Given the description of an element on the screen output the (x, y) to click on. 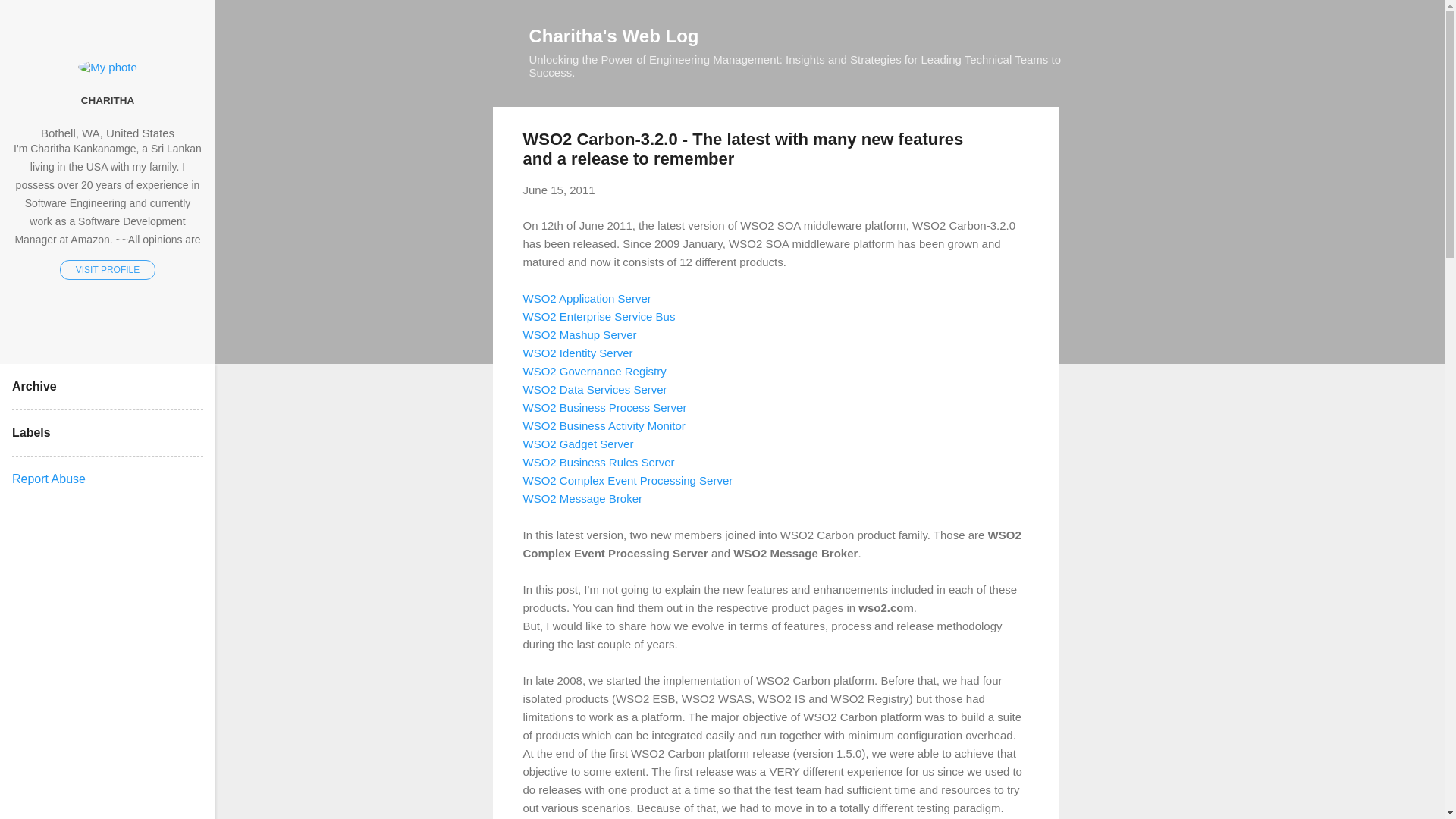
WSO2 Business Rules Server (598, 461)
WSO2 Application Server (586, 297)
WSO2 Mashup Server (579, 333)
WSO2 Governance Registry (594, 369)
WSO2 Business Process Server (604, 406)
permanent link (558, 189)
WSO2 Gadget Server (577, 442)
WSO2 Complex Event Processing Server (627, 479)
WSO2 Identity Server (577, 351)
WSO2 Data Services Server (594, 388)
